Given the description of an element on the screen output the (x, y) to click on. 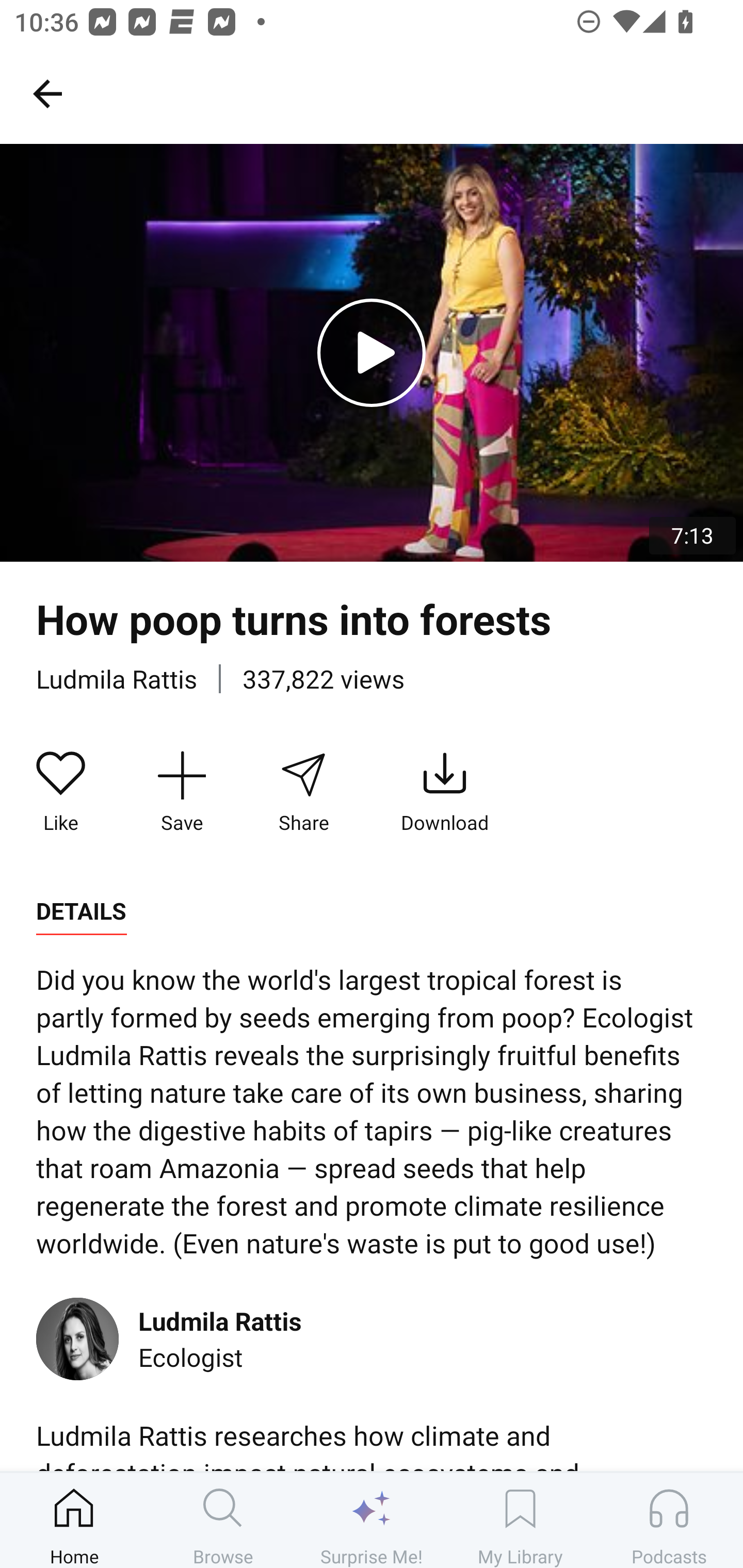
Home, back (47, 92)
Like (60, 793)
Save (181, 793)
Share (302, 793)
Download (444, 793)
DETAILS (80, 911)
Home (74, 1520)
Browse (222, 1520)
Surprise Me! (371, 1520)
My Library (519, 1520)
Podcasts (668, 1520)
